Given the description of an element on the screen output the (x, y) to click on. 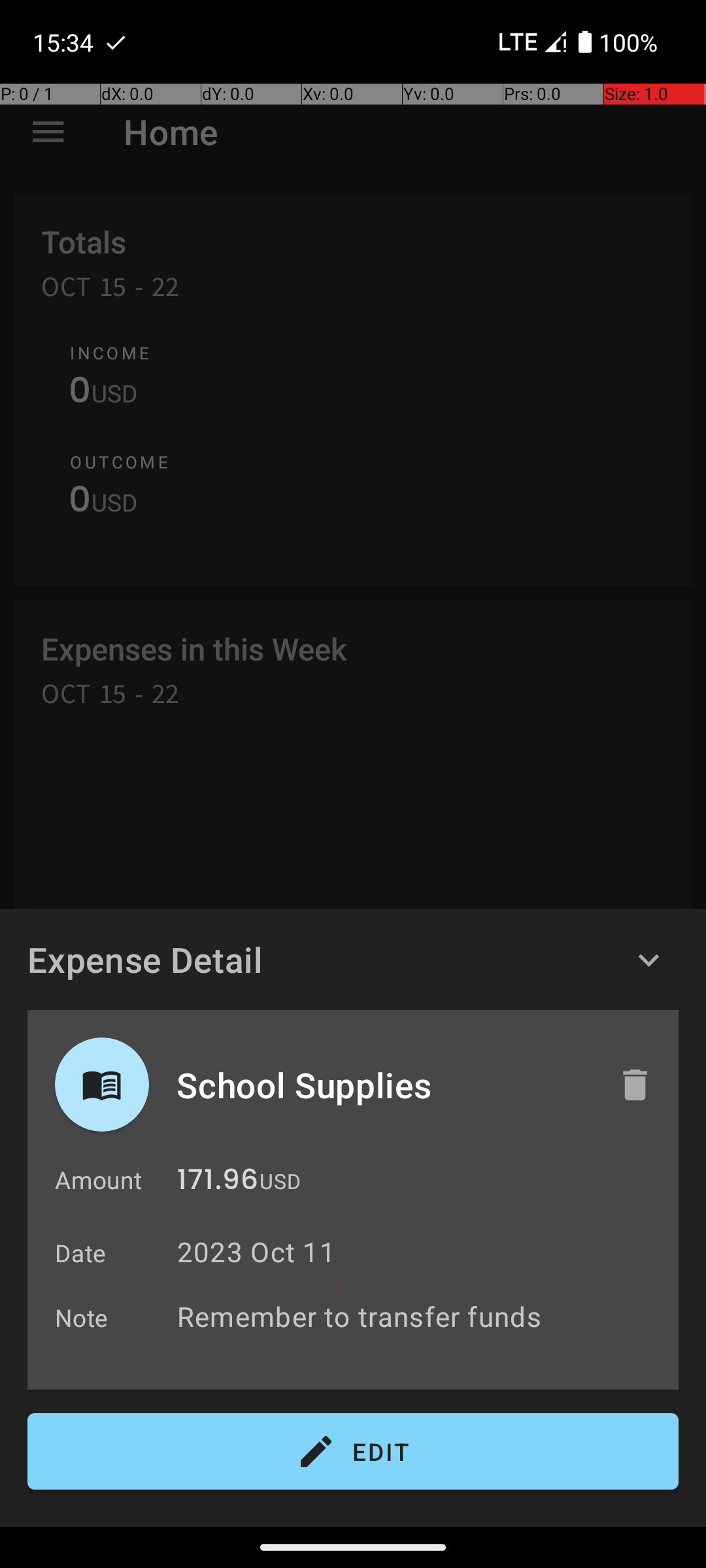
School Supplies Element type: android.widget.TextView (383, 1084)
171.96 Element type: android.widget.TextView (217, 1182)
